Given the description of an element on the screen output the (x, y) to click on. 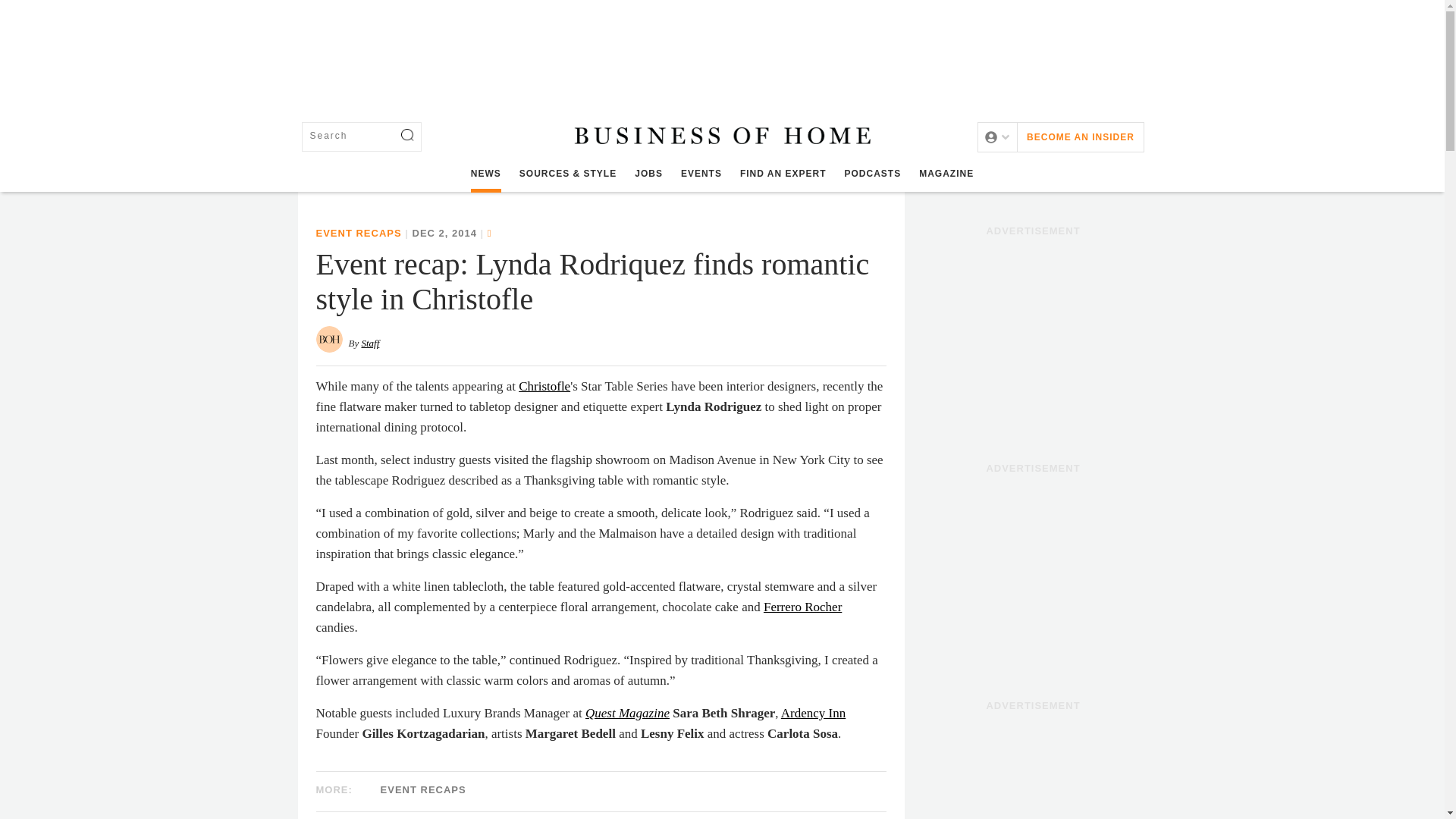
3rd party ad content (721, 50)
3rd party ad content (1032, 338)
NEWS (485, 173)
3rd party ad content (1032, 768)
3rd party ad content (1032, 575)
